Given the description of an element on the screen output the (x, y) to click on. 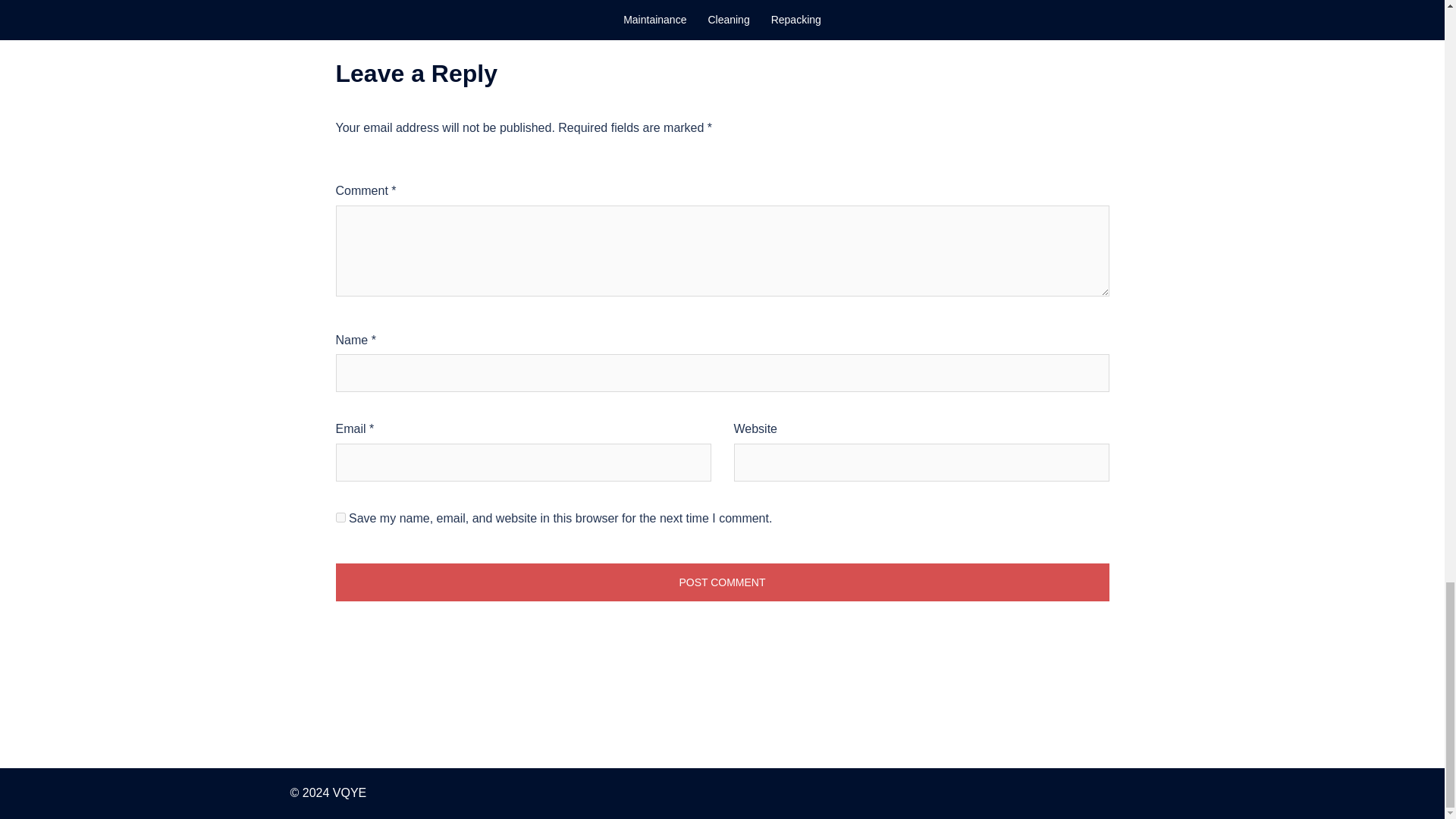
Post Comment (721, 582)
Post Comment (721, 582)
yes (339, 517)
